Given the description of an element on the screen output the (x, y) to click on. 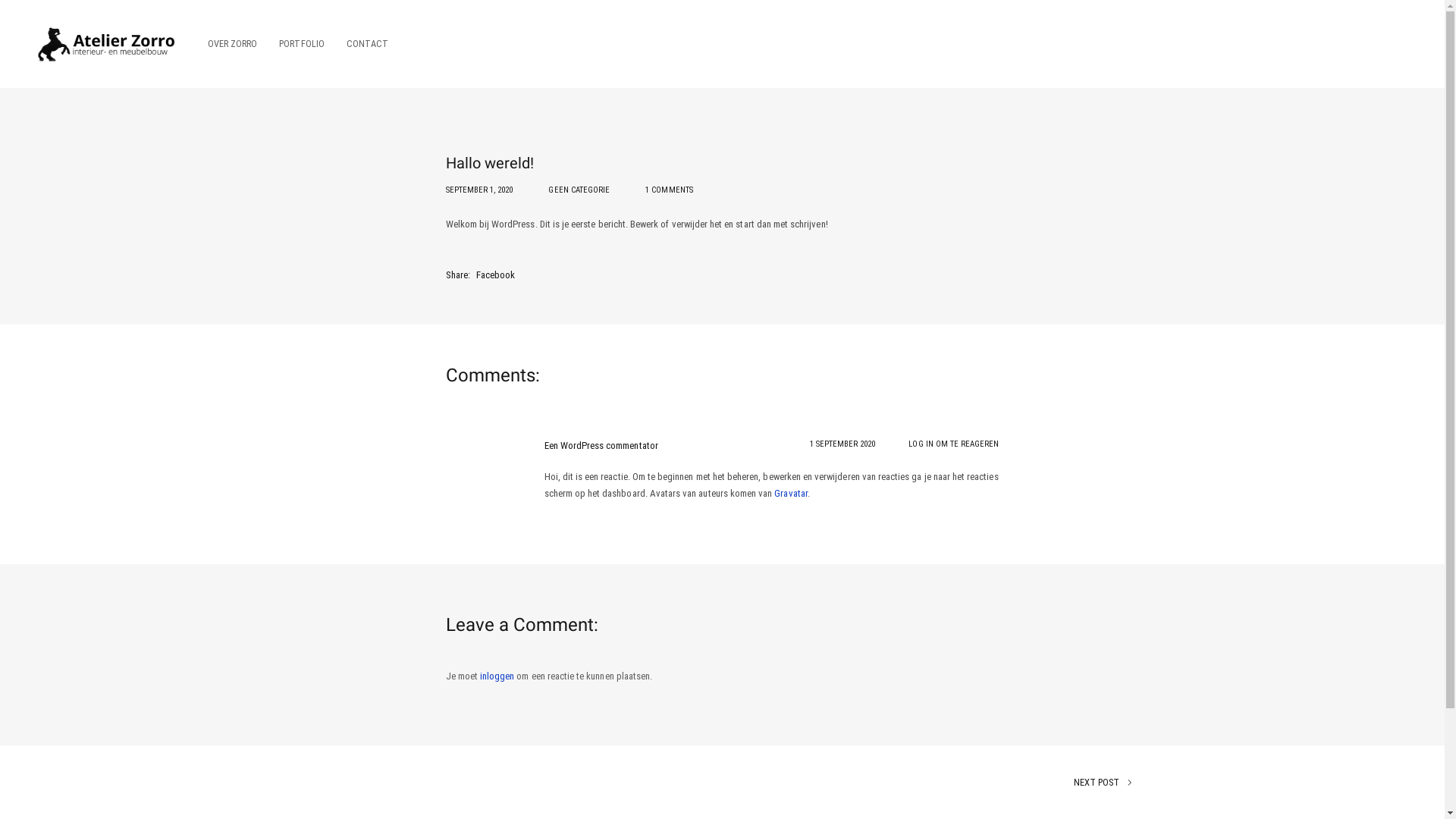
NEXT POST Element type: text (921, 782)
OVER ZORRO Element type: text (232, 43)
Facebook Element type: text (495, 274)
PORTFOLIO Element type: text (301, 43)
inloggen Element type: text (497, 675)
GEEN CATEGORIE Element type: text (578, 189)
CONTACT Element type: text (361, 43)
Gravatar Element type: text (790, 492)
Een WordPress commentator Element type: text (601, 445)
LOG IN OM TE REAGEREN Element type: text (953, 443)
